Given the description of an element on the screen output the (x, y) to click on. 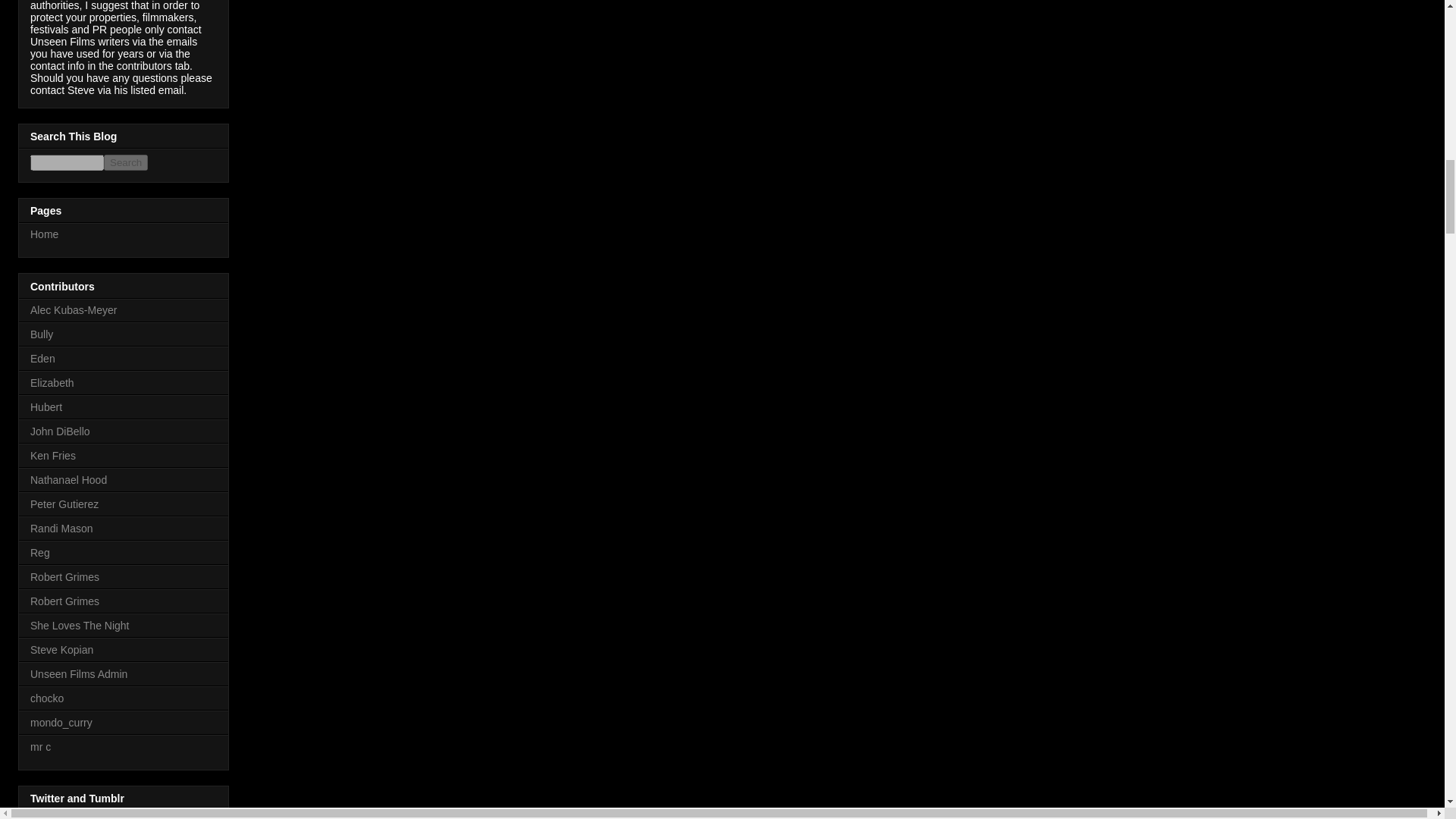
Unseen Films Admin (79, 674)
Search (125, 162)
Peter Gutierez (64, 503)
Robert Grimes (64, 576)
She Loves The Night (79, 625)
search (66, 162)
Ken Fries (52, 455)
Elizabeth (52, 382)
Bully (41, 334)
Robert Grimes (64, 601)
search (125, 162)
Eden (42, 358)
Alec Kubas-Meyer (73, 309)
Search (125, 162)
John DiBello (60, 431)
